Given the description of an element on the screen output the (x, y) to click on. 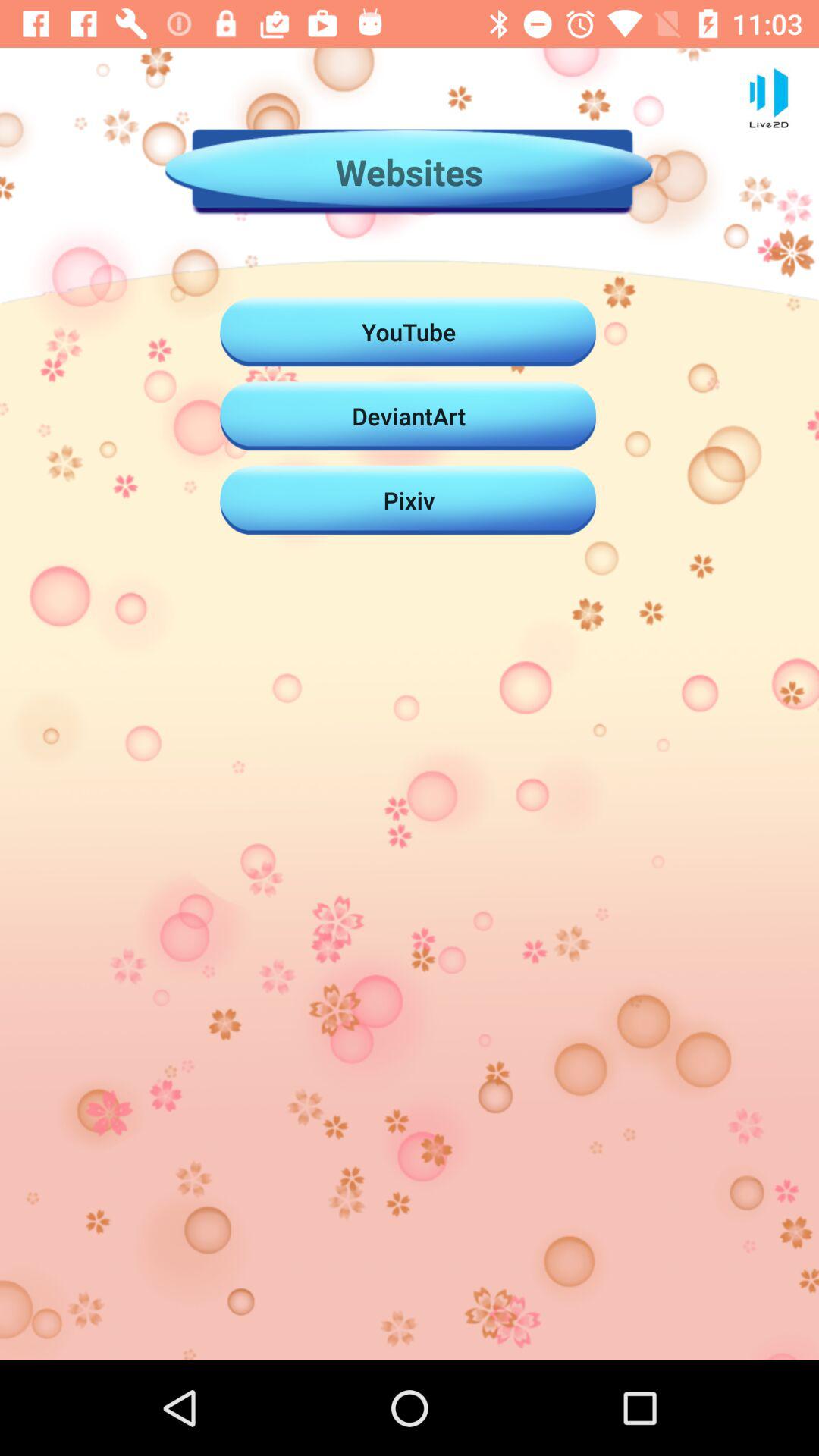
choose the icon below the deviantart item (409, 500)
